Given the description of an element on the screen output the (x, y) to click on. 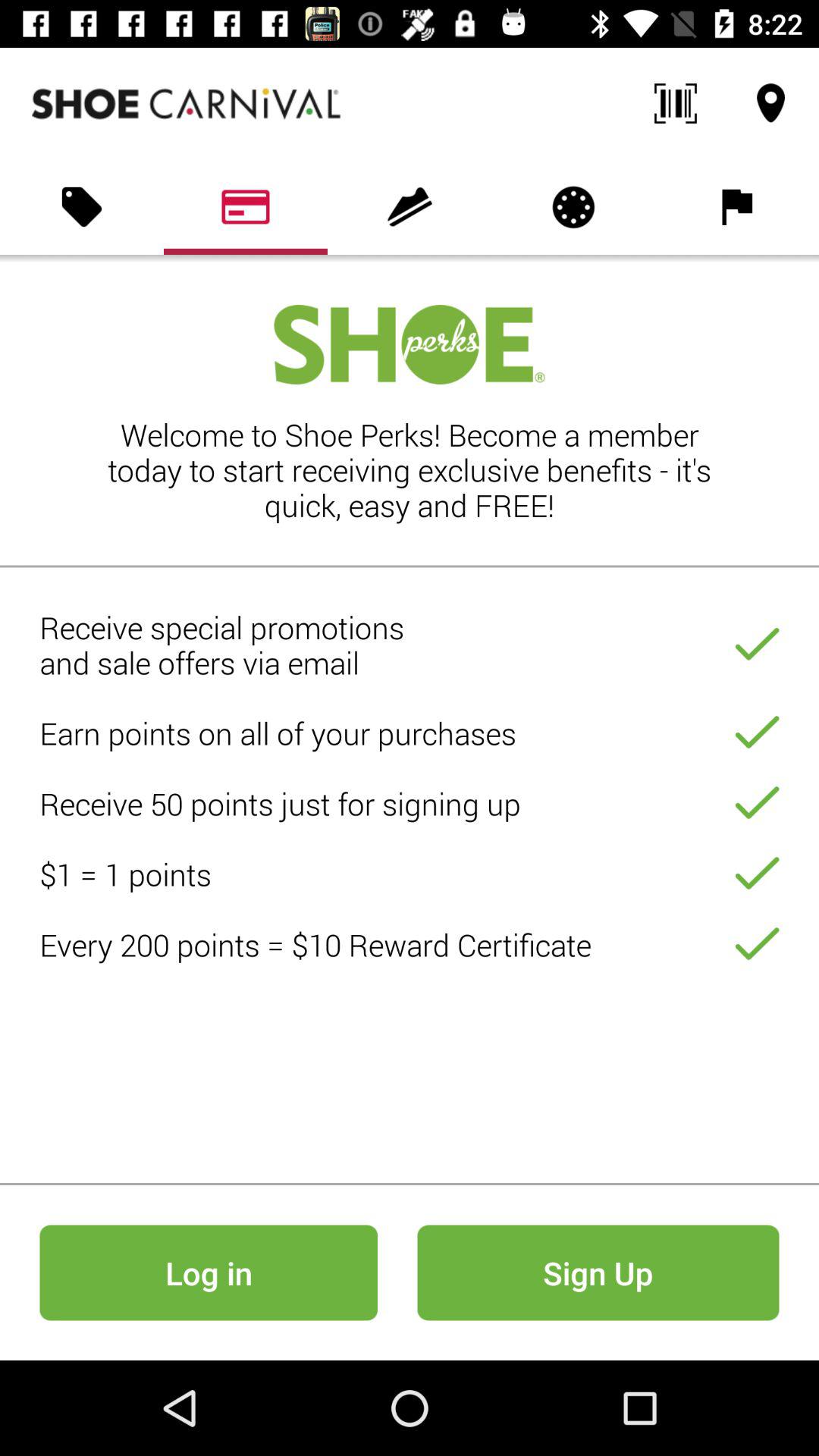
click the icon next to the sign up (208, 1272)
